Given the description of an element on the screen output the (x, y) to click on. 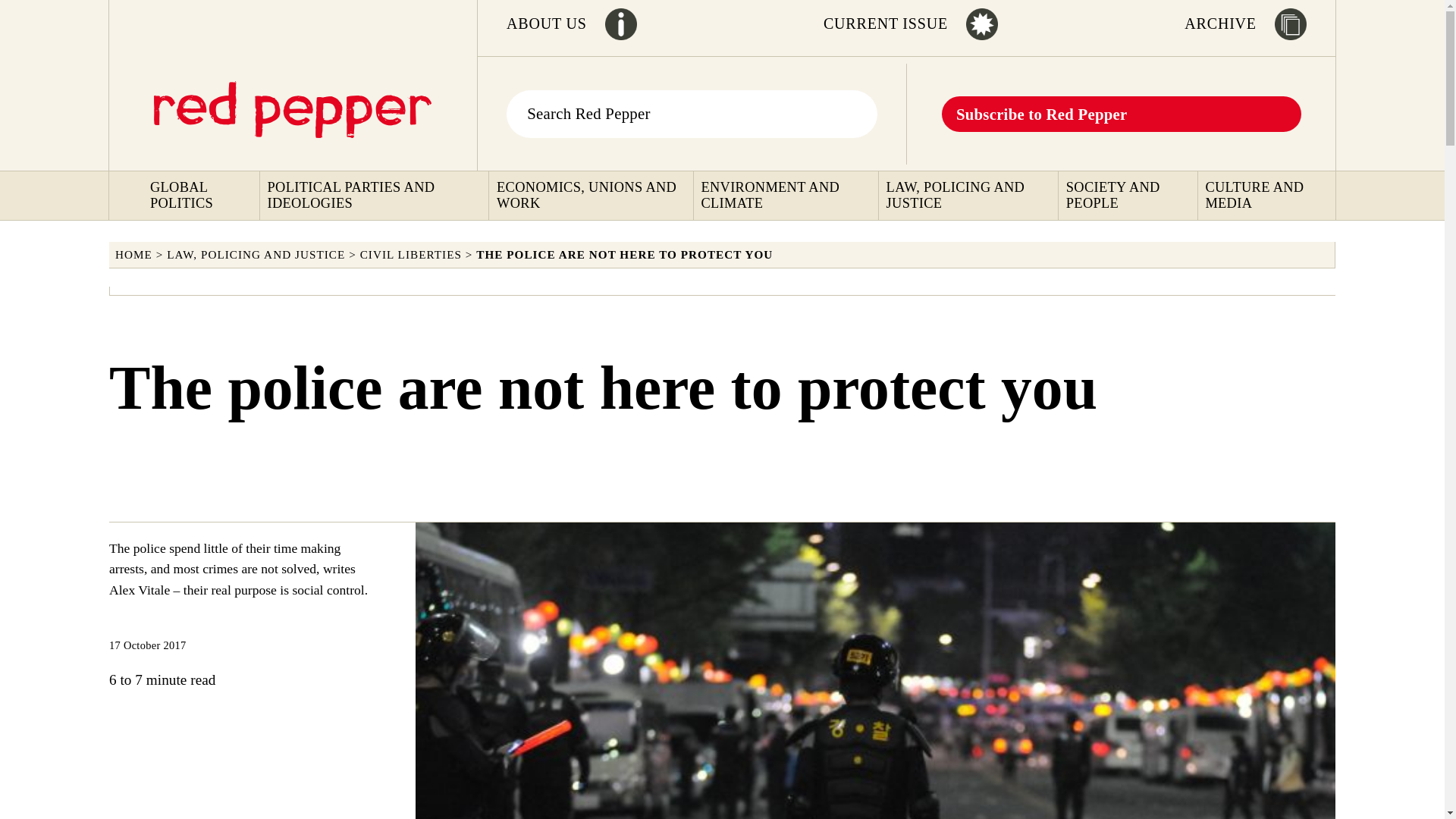
ARCHIVE (1220, 23)
LAW, POLICING AND JUSTICE (256, 254)
CULTURE AND MEDIA (1268, 195)
ABOUT US (546, 23)
ENVIRONMENT AND CLIMATE (787, 195)
POLITICAL PARTIES AND IDEOLOGIES (375, 195)
Subscribe to Red Pepper (1041, 113)
LAW, POLICING AND JUSTICE (970, 195)
CIVIL LIBERTIES (410, 254)
SOCIETY AND PEOPLE (1129, 195)
